Given the description of an element on the screen output the (x, y) to click on. 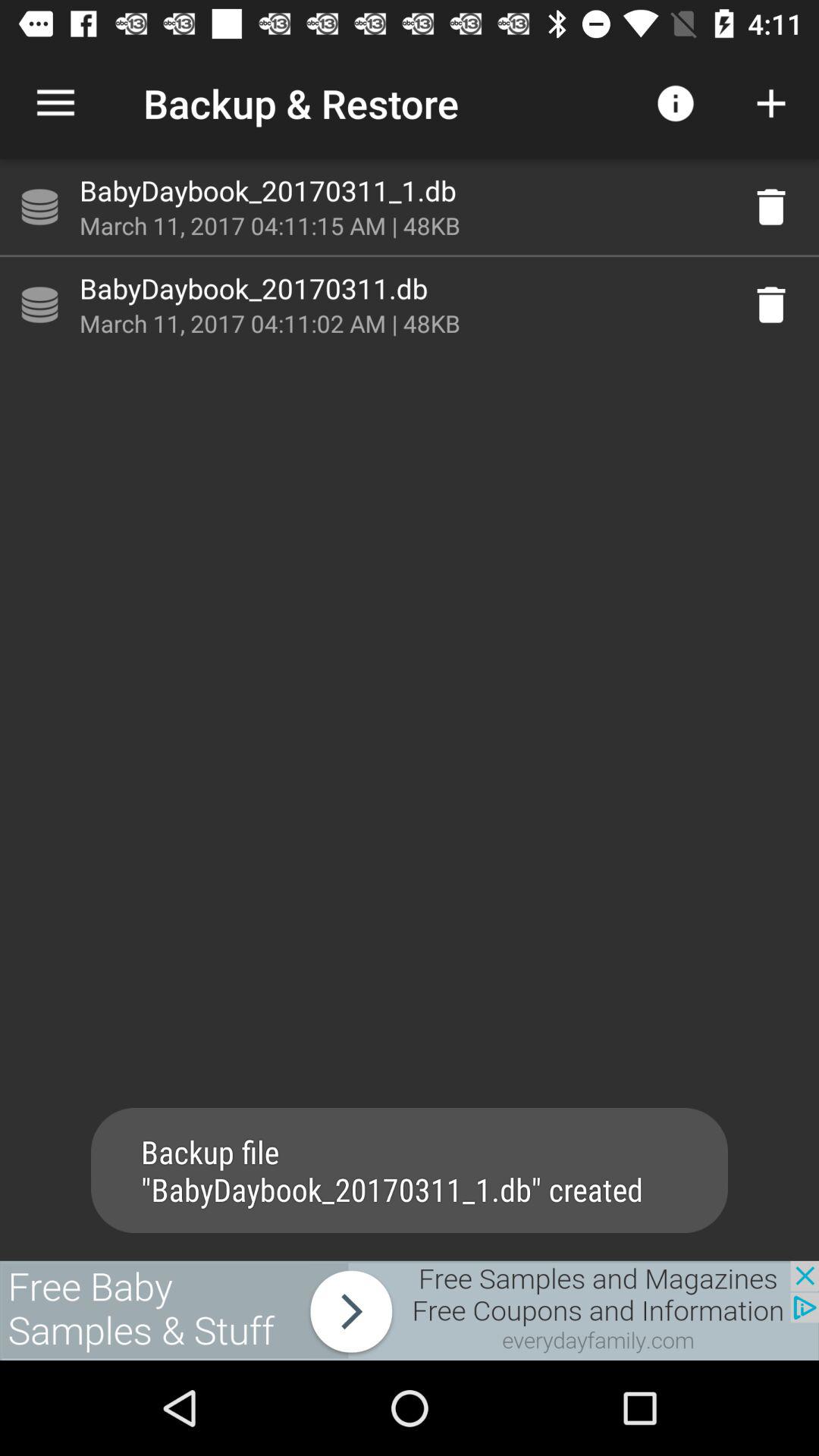
advertiement page (409, 1310)
